Given the description of an element on the screen output the (x, y) to click on. 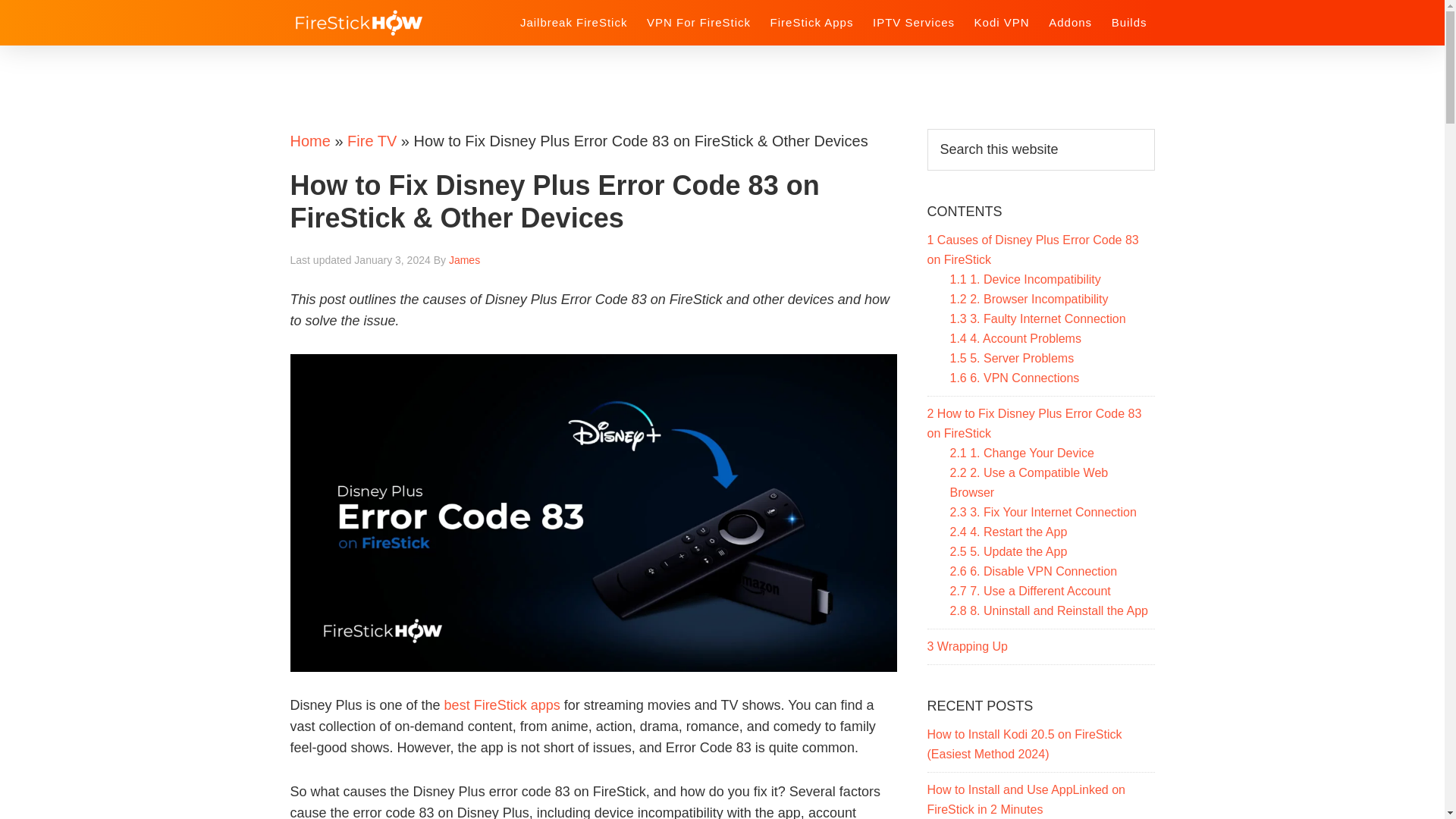
VPN For FireStick (698, 21)
1 Causes of Disney Plus Error Code 83 on FireStick (1032, 249)
Builds (1128, 21)
best FireStick apps (502, 704)
Kodi VPN (1001, 21)
Jailbreak FireStick (573, 21)
Fire Stick How (392, 22)
Fire TV (371, 140)
IPTV Services (913, 21)
Home (309, 140)
James (464, 259)
FireStick Apps (811, 21)
